Given the description of an element on the screen output the (x, y) to click on. 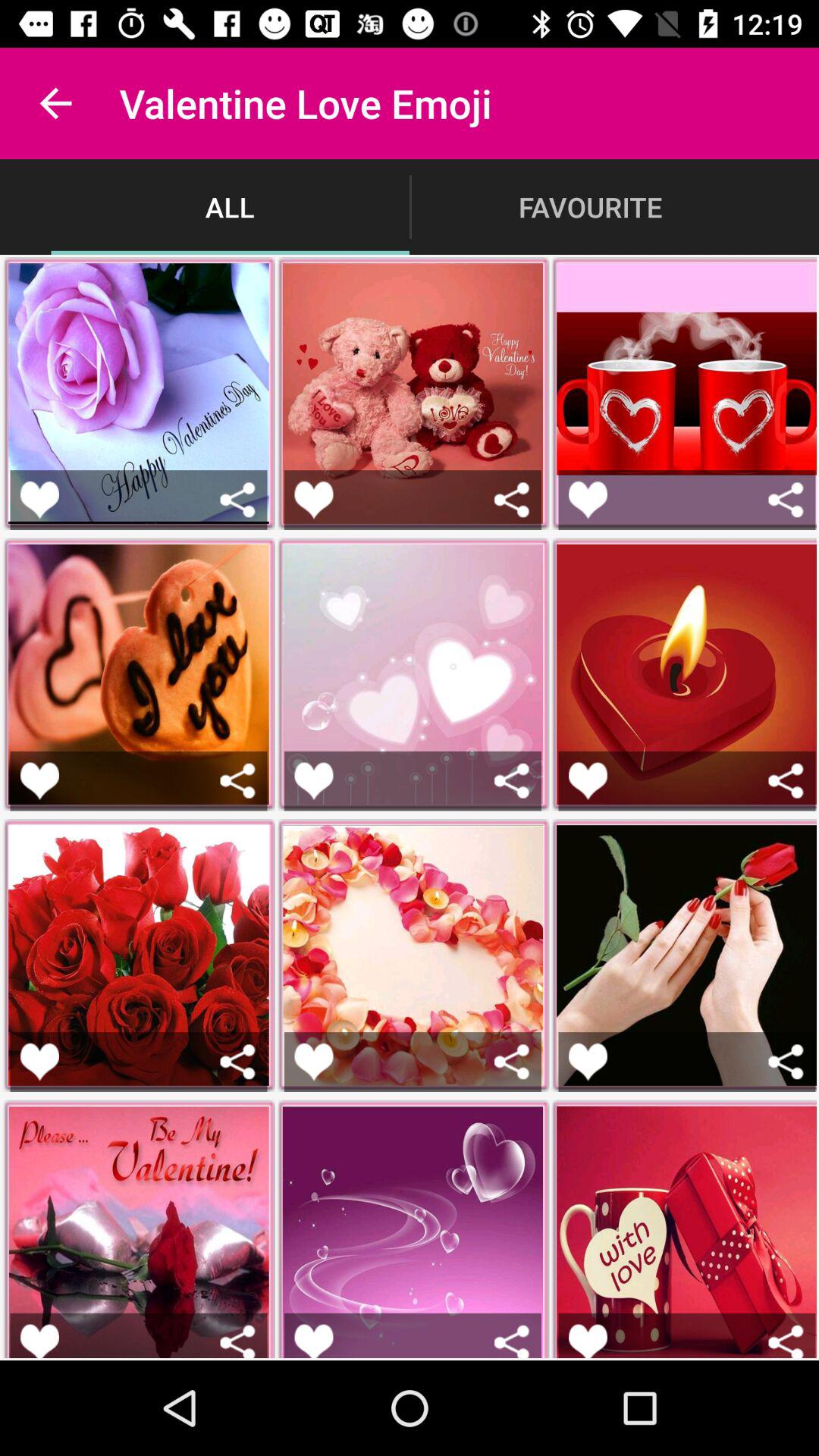
share with love mug (785, 1340)
